Given the description of an element on the screen output the (x, y) to click on. 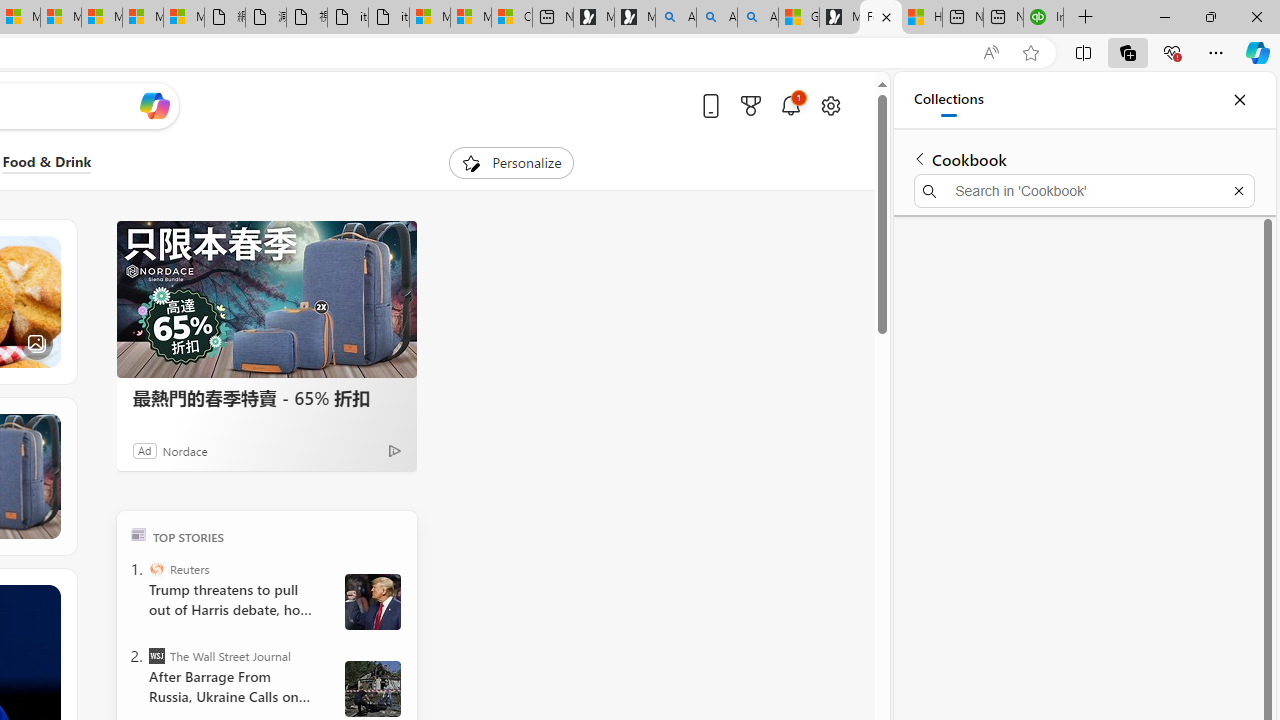
How to Use a TV as a Computer Monitor (922, 17)
Alabama high school quarterback dies - Search (675, 17)
Back to list of collections (920, 158)
Reuters (156, 568)
Alabama high school quarterback dies - Search Videos (758, 17)
Search in 'Cookbook' (1084, 190)
Consumer Health Data Privacy Policy (511, 17)
